Given the description of an element on the screen output the (x, y) to click on. 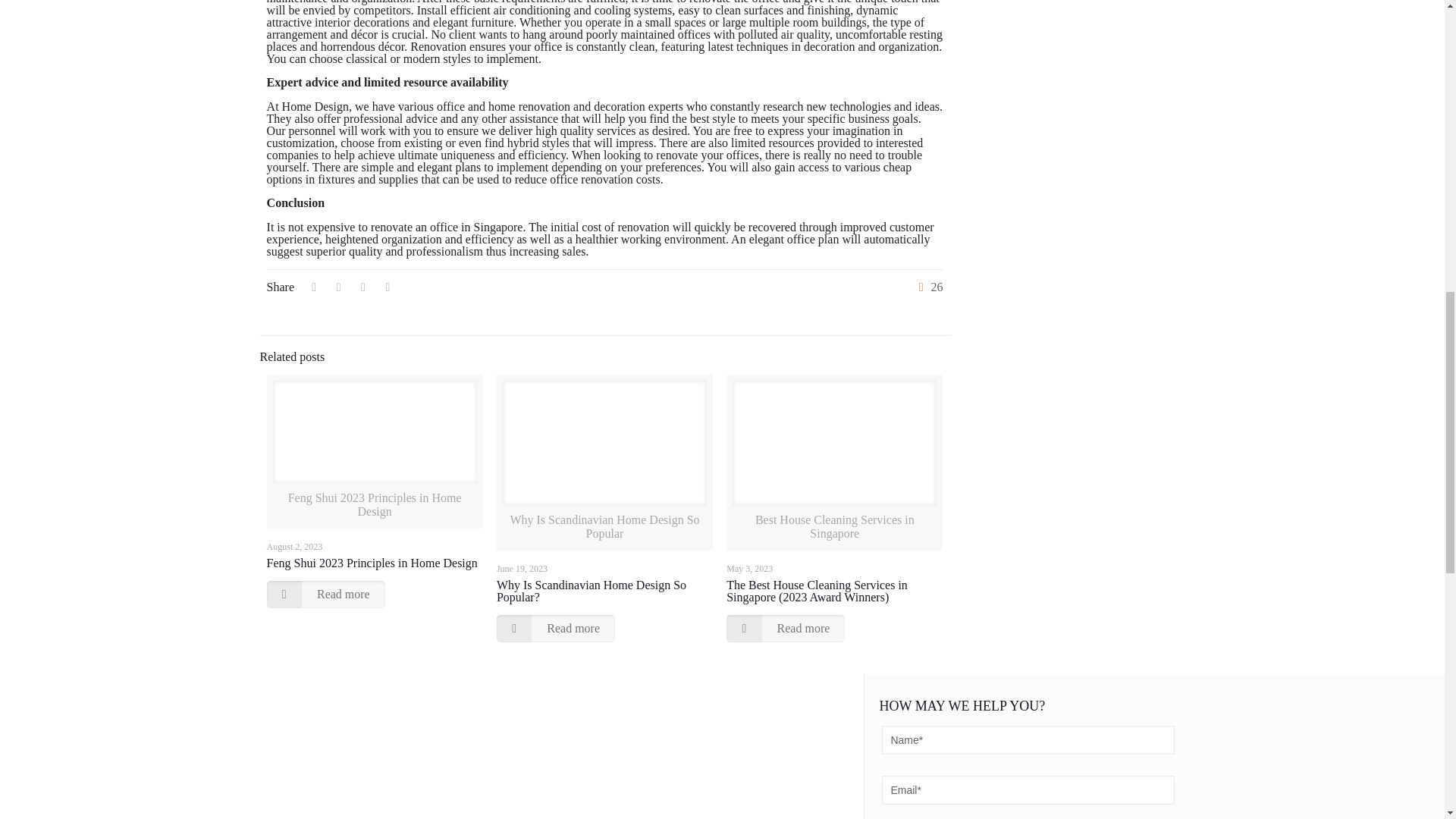
Read more (555, 628)
Read more (785, 628)
26 (927, 287)
Why Is Scandinavian Home Design So Popular? (590, 590)
Feng Shui 2023 Principles in Home Design (371, 562)
Read more (325, 594)
